Given the description of an element on the screen output the (x, y) to click on. 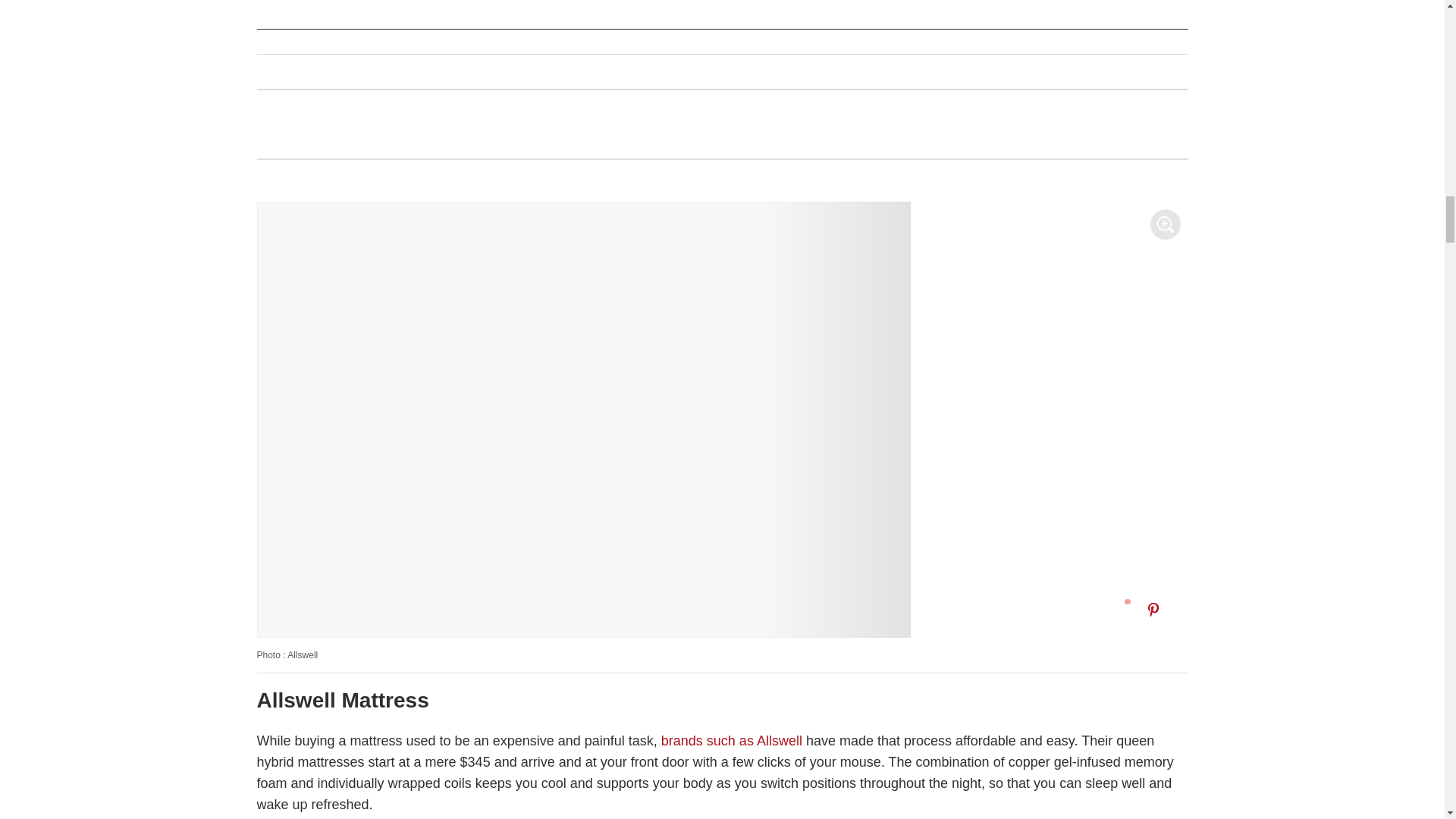
Magnifying Glass Light (1164, 224)
